Given the description of an element on the screen output the (x, y) to click on. 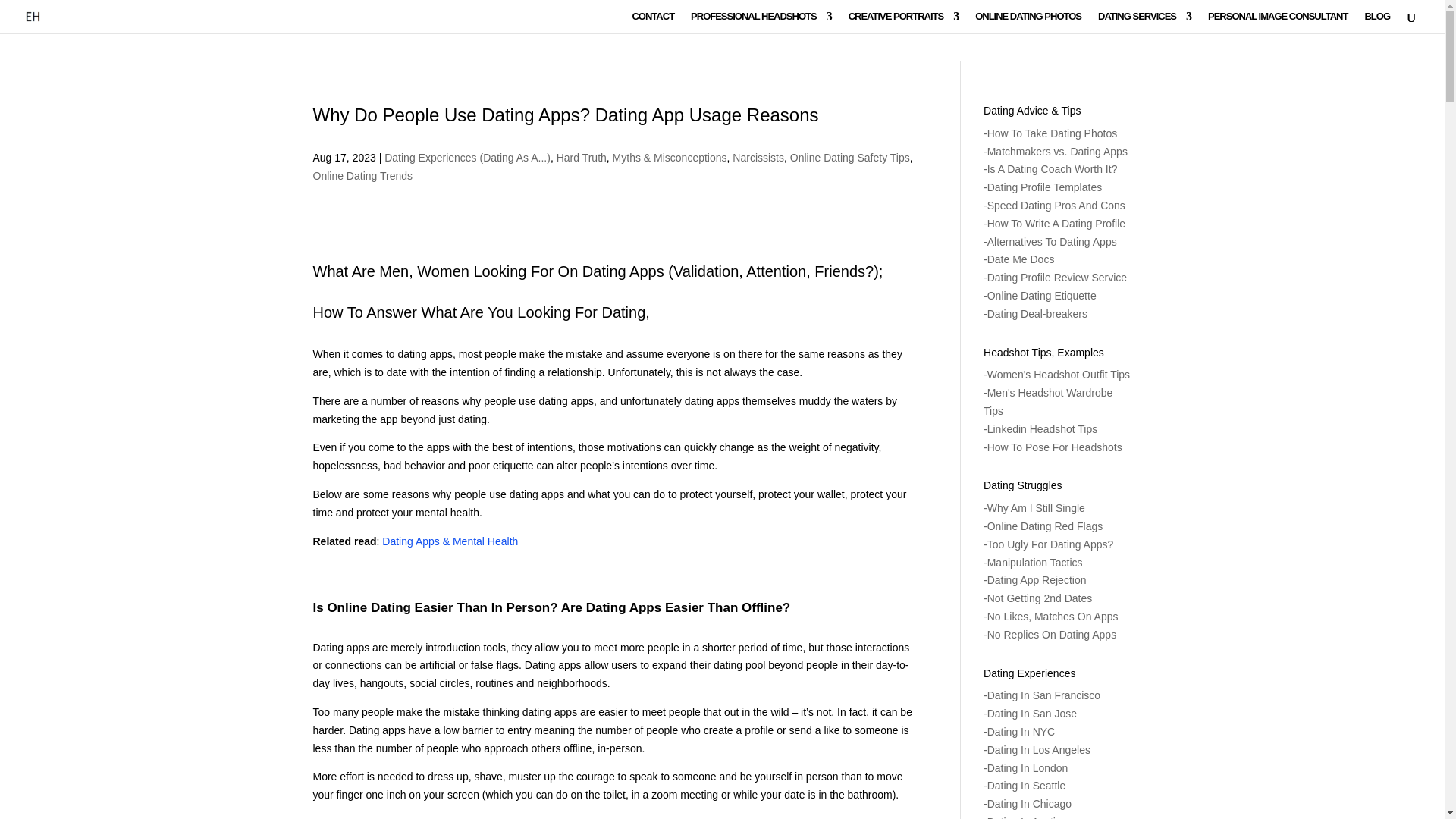
DATING SERVICES (1144, 22)
Narcissists (758, 157)
Online Dating Trends (362, 175)
ONLINE DATING PHOTOS (1028, 22)
CREATIVE PORTRAITS (903, 22)
BLOG (1377, 22)
-How To Write A Dating Profile (1054, 223)
PROFESSIONAL HEADSHOTS (760, 22)
-Matchmakers vs. Dating Apps (1055, 151)
Hard Truth (581, 157)
